Given the description of an element on the screen output the (x, y) to click on. 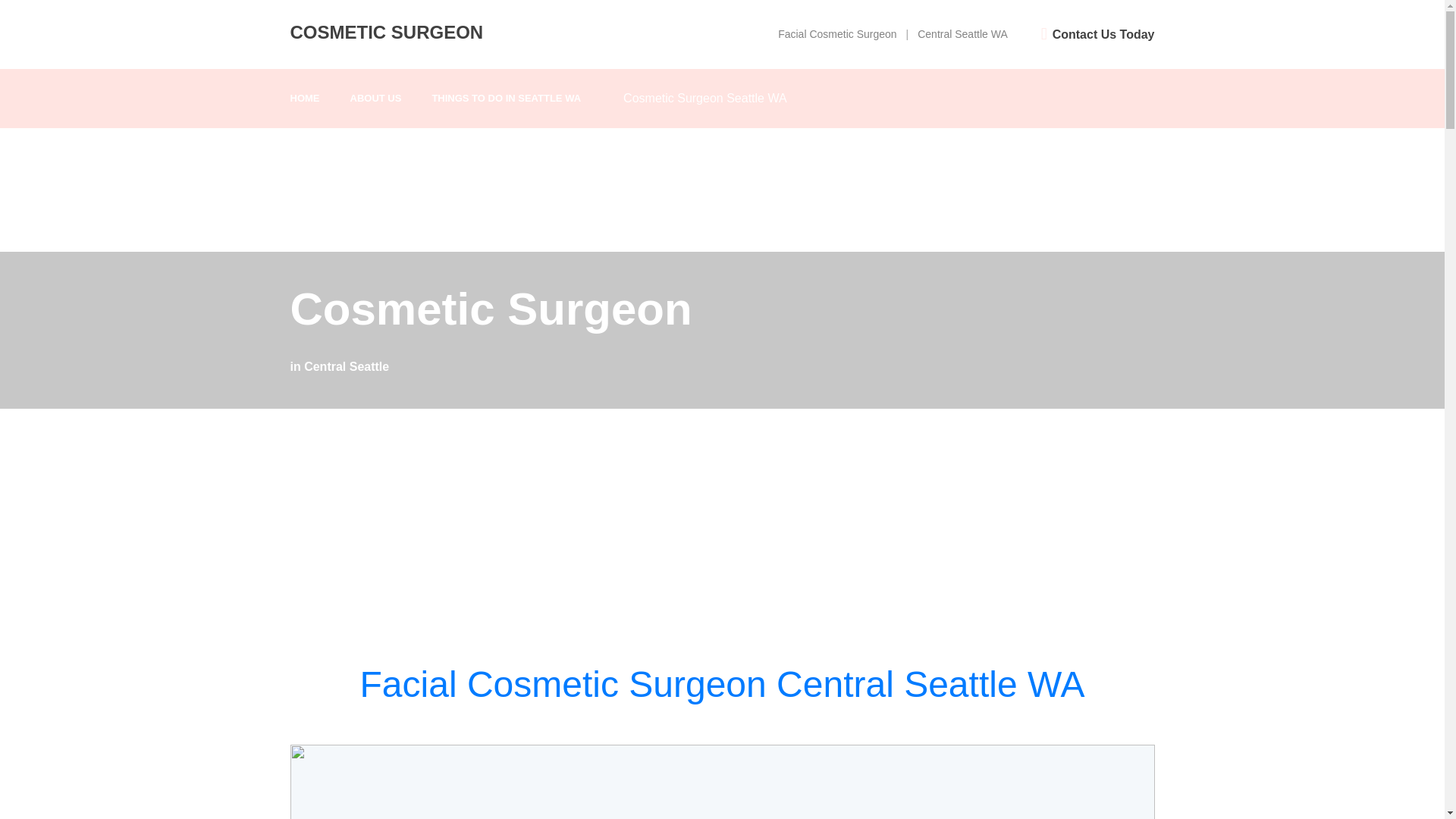
Facial Cosmetic Surgeon (836, 33)
ABOUT US (375, 98)
Facial Cosmetic Surgeon Central Seattle WA (721, 684)
HOME (303, 98)
COSMETIC SURGEON (386, 32)
THINGS TO DO IN SEATTLE WA (505, 98)
Cosmetic Surgeon Seattle WA (705, 97)
Central Seattle WA (962, 33)
